Given the description of an element on the screen output the (x, y) to click on. 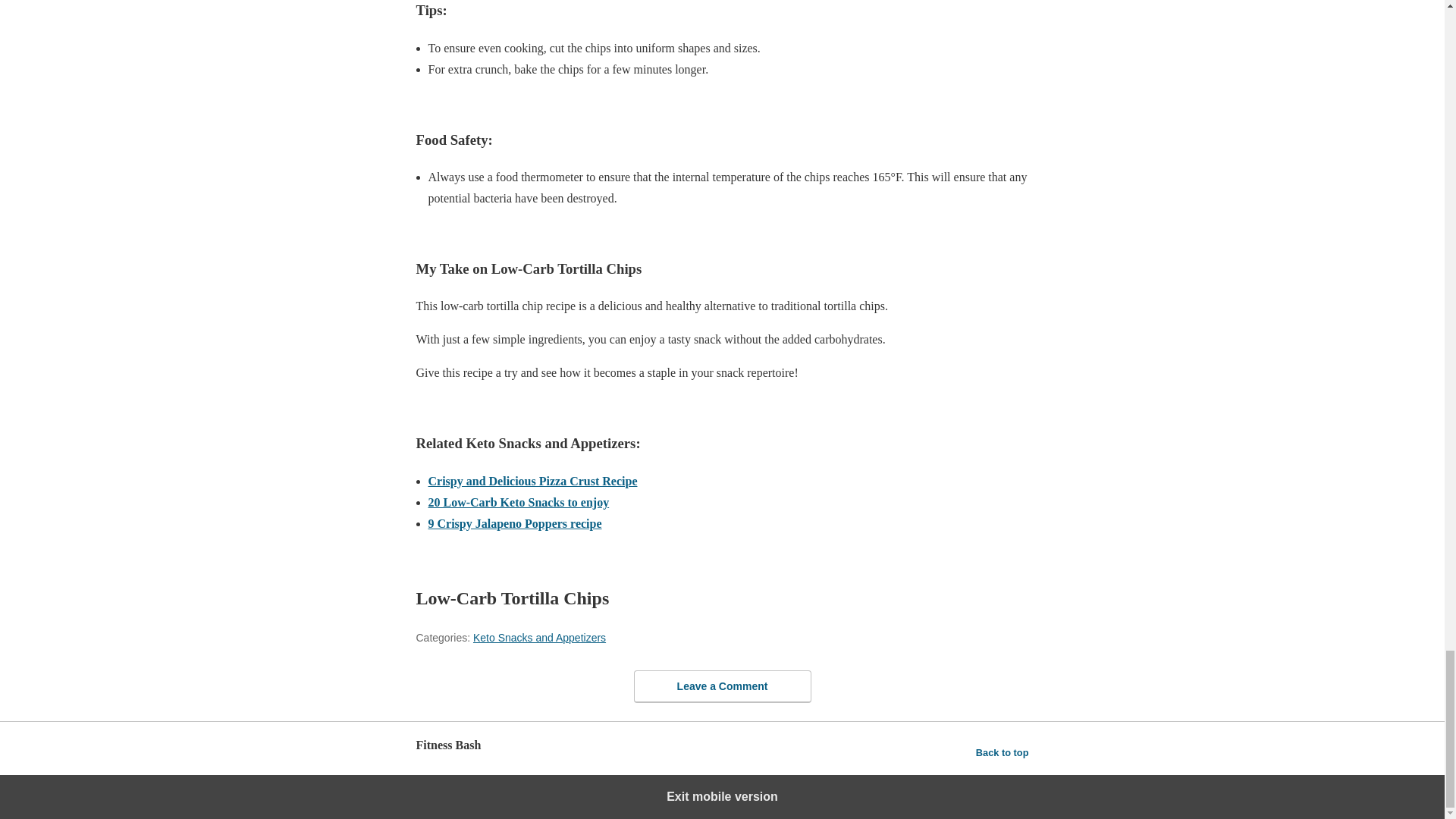
9 Crispy Jalapeno Poppers recipe (514, 522)
Crispy and Delicious Pizza Crust Recipe (532, 481)
Back to top (1002, 752)
20 Low-Carb Keto Snacks to enjoy (518, 502)
Leave a Comment (721, 686)
Keto Snacks and Appetizers (539, 637)
